Given the description of an element on the screen output the (x, y) to click on. 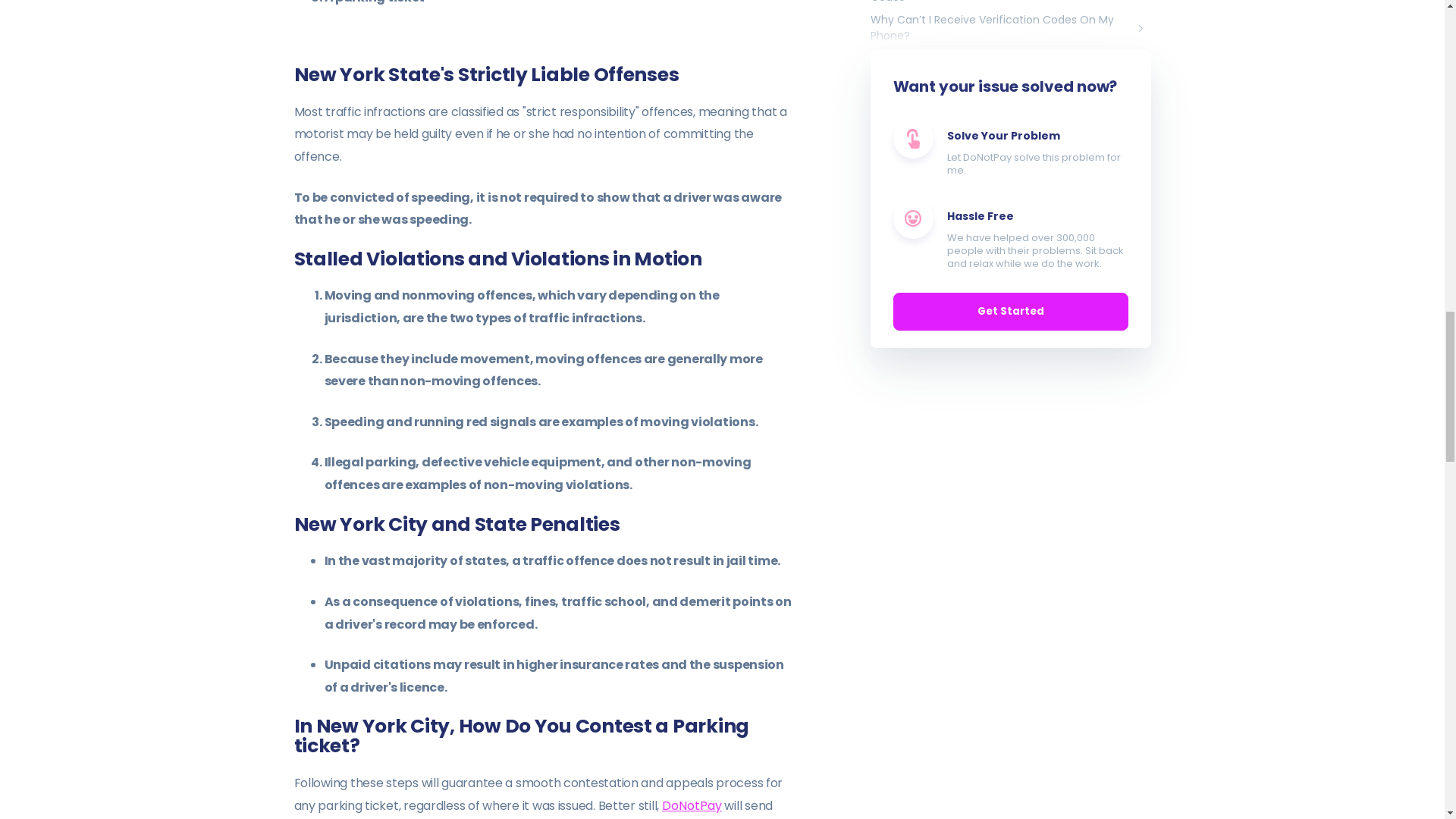
DoNotPay (692, 805)
